Given the description of an element on the screen output the (x, y) to click on. 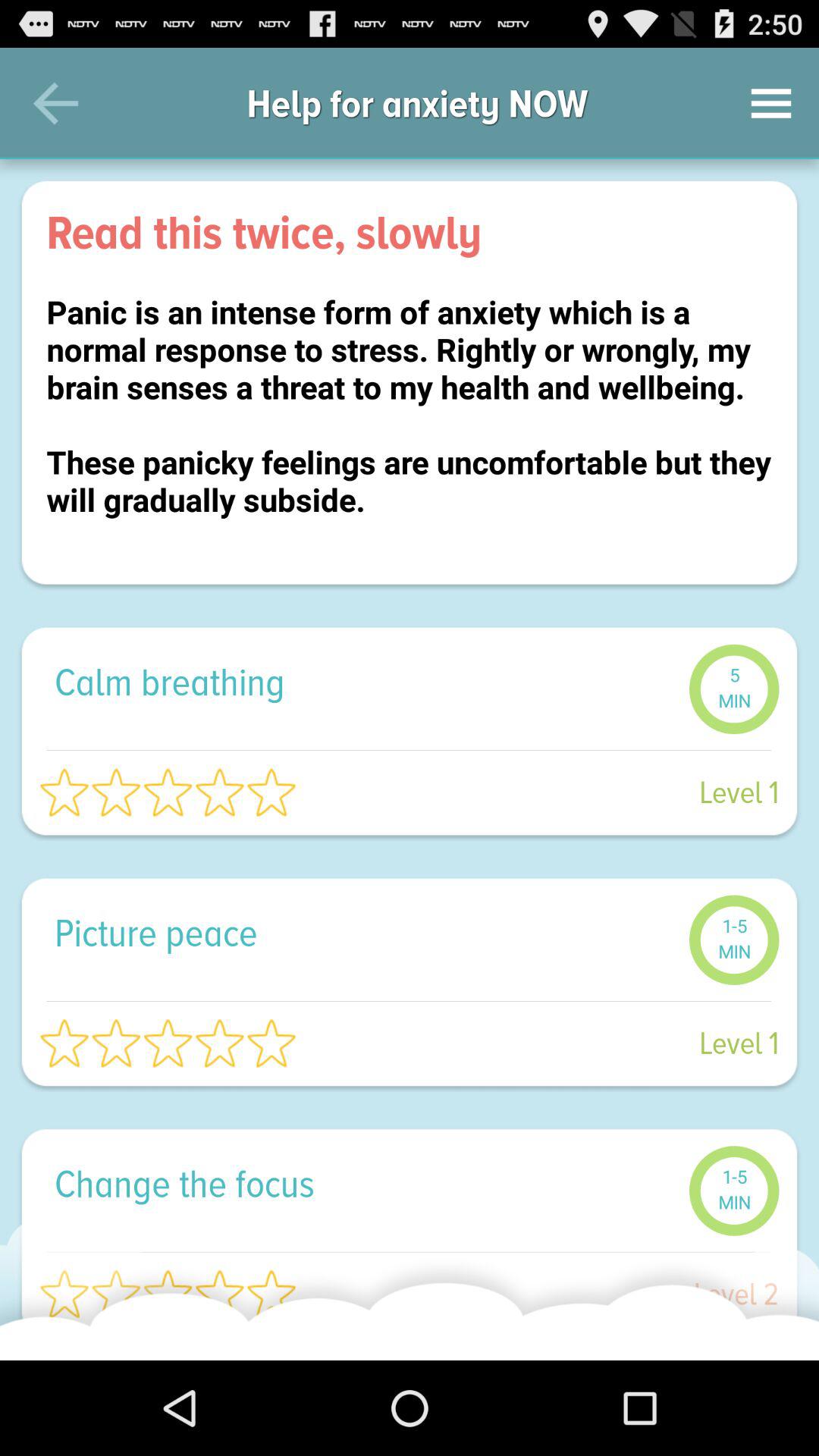
turn off panic is an icon (409, 424)
